Given the description of an element on the screen output the (x, y) to click on. 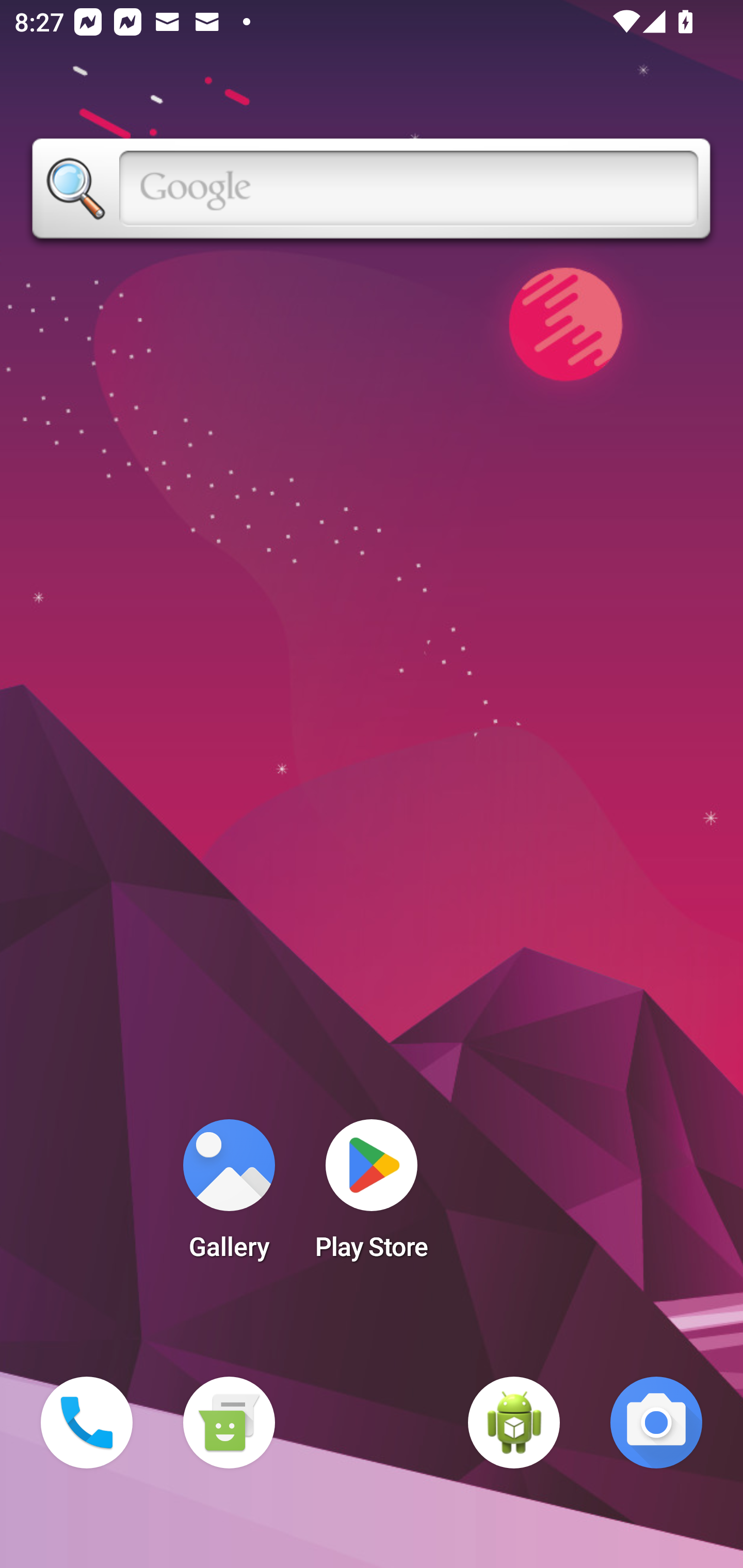
Gallery (228, 1195)
Play Store (371, 1195)
Phone (86, 1422)
Messaging (228, 1422)
WebView Browser Tester (513, 1422)
Camera (656, 1422)
